Given the description of an element on the screen output the (x, y) to click on. 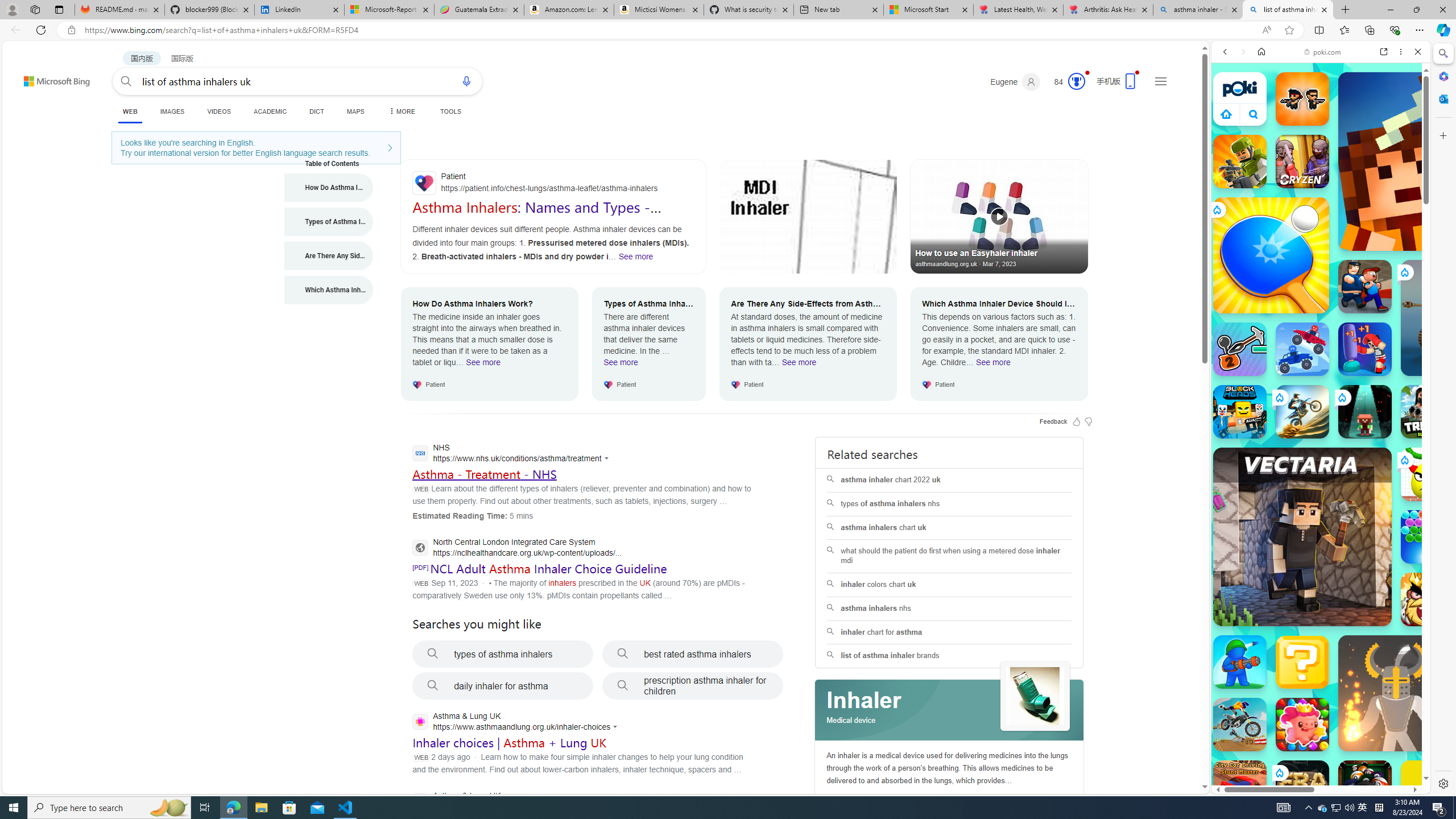
Like a King (1427, 599)
Combat Reloaded (1349, 523)
Crazy Bikes Crazy Bikes (1239, 724)
poki.com (1322, 51)
Ping Pong Go! Ping Pong Go! (1270, 255)
Blockheads Blockheads (1239, 411)
Crazy Bikes (1239, 724)
Io Games (1320, 351)
Search using voice (465, 80)
Punch Legend Simulator (1364, 348)
Patient (553, 182)
